Given the description of an element on the screen output the (x, y) to click on. 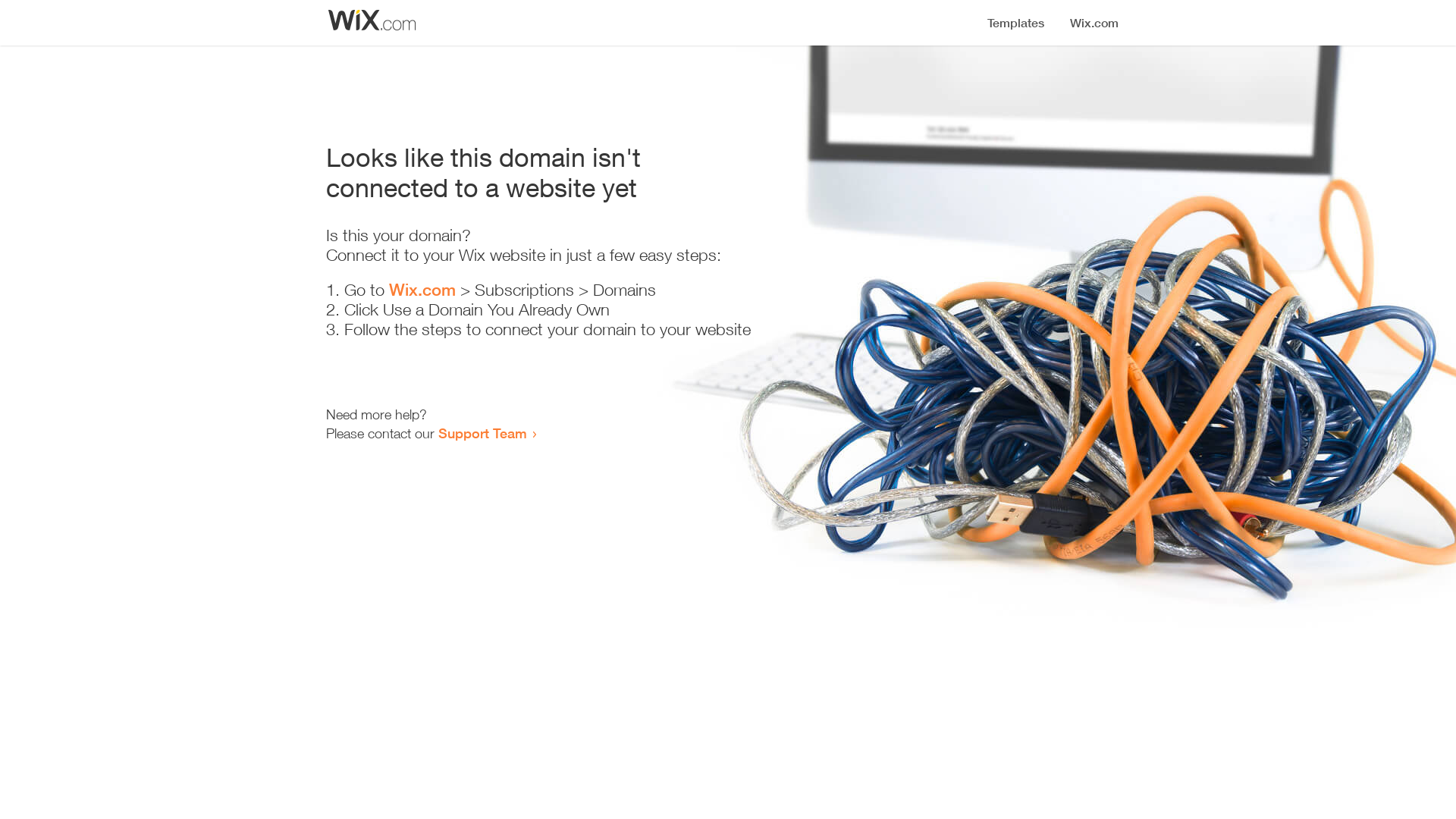
Wix.com Element type: text (422, 289)
Support Team Element type: text (482, 432)
